Given the description of an element on the screen output the (x, y) to click on. 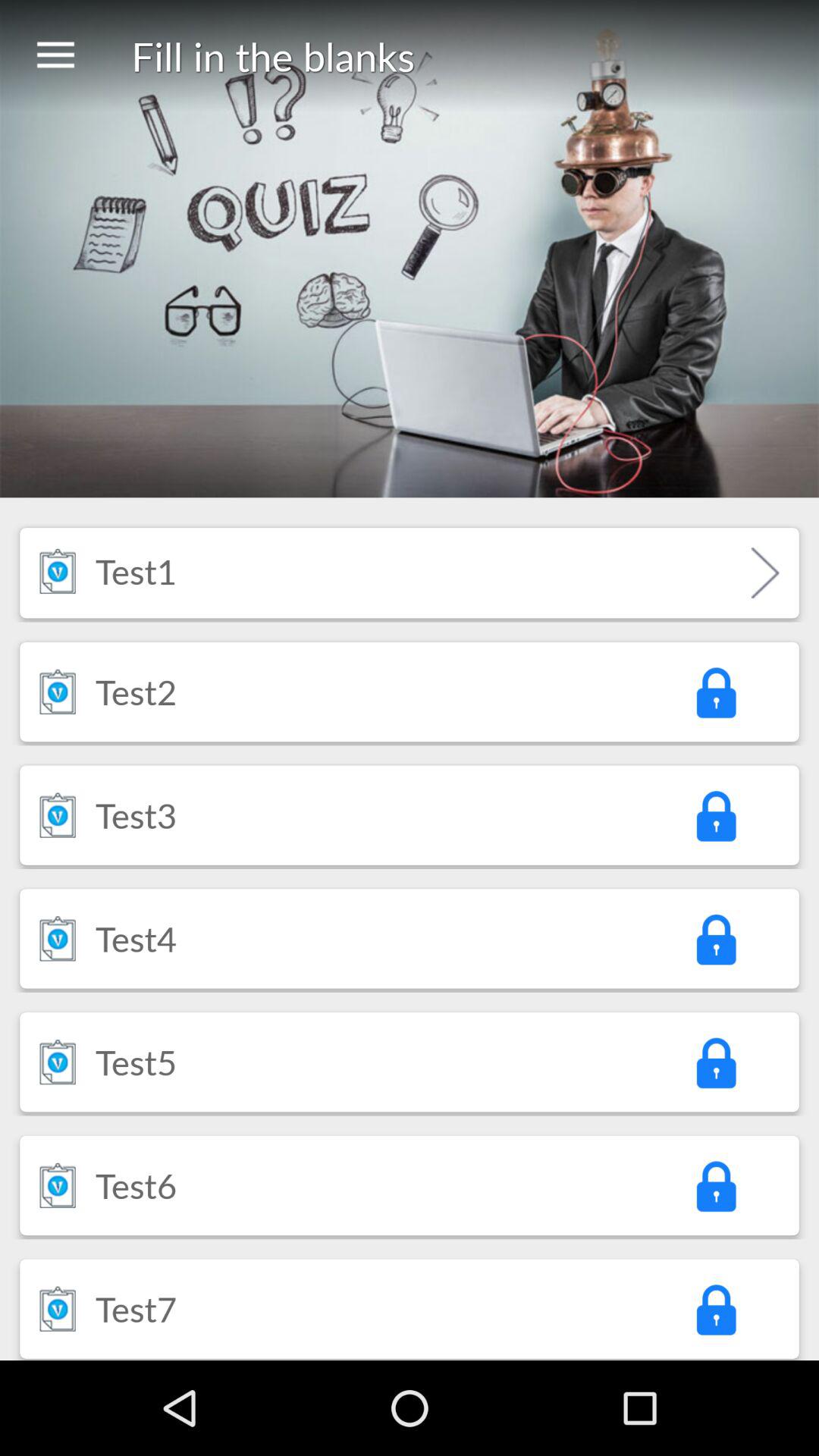
open the item next to the test3 item (57, 814)
